Given the description of an element on the screen output the (x, y) to click on. 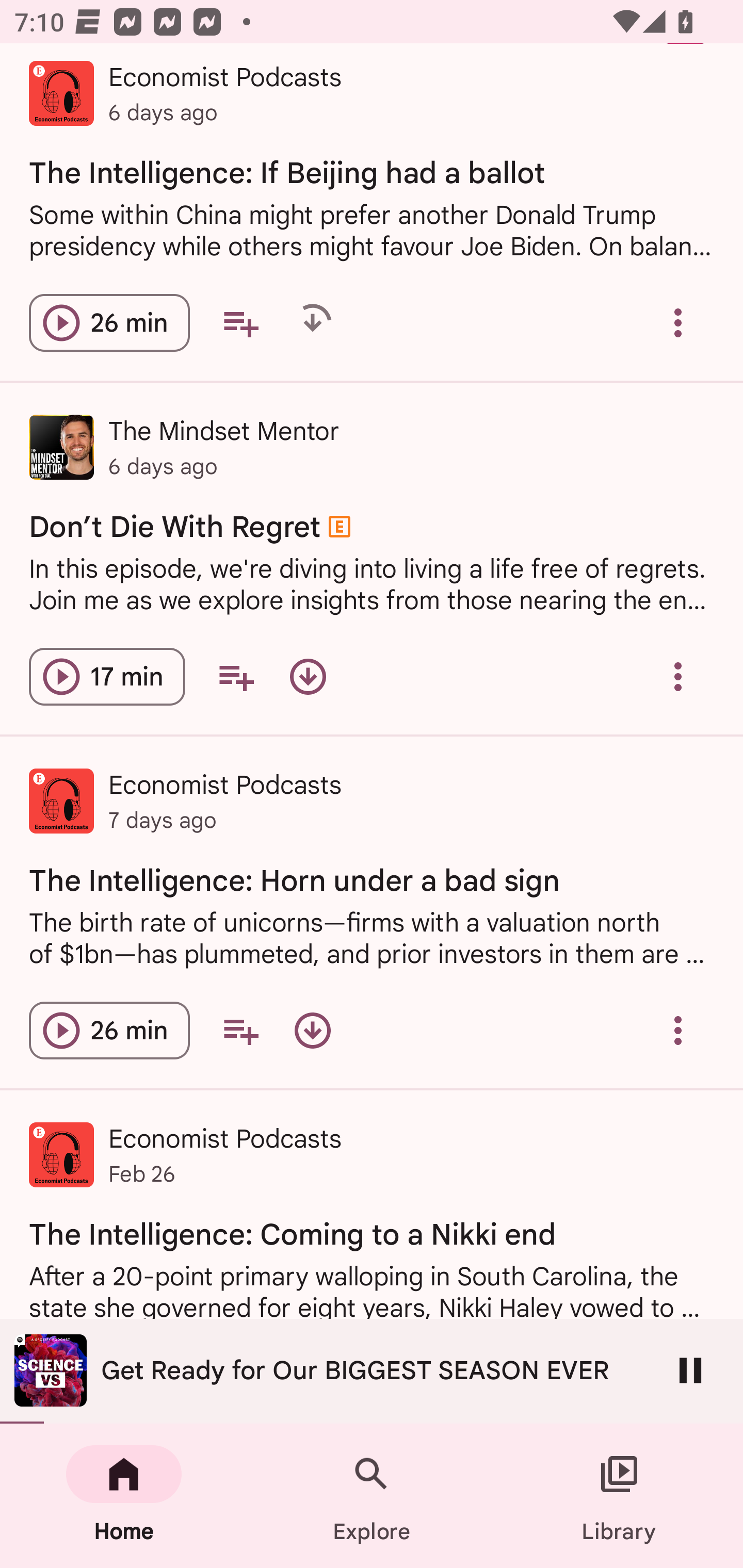
Add to your queue (240, 322)
Queued to download - double tap for options (312, 322)
Overflow menu (677, 322)
Play episode Don’t Die With Regret 17 min (106, 676)
Add to your queue (235, 676)
Download episode (307, 676)
Overflow menu (677, 676)
Add to your queue (240, 1030)
Download episode (312, 1030)
Overflow menu (677, 1030)
Pause (690, 1370)
Explore (371, 1495)
Library (619, 1495)
